Given the description of an element on the screen output the (x, y) to click on. 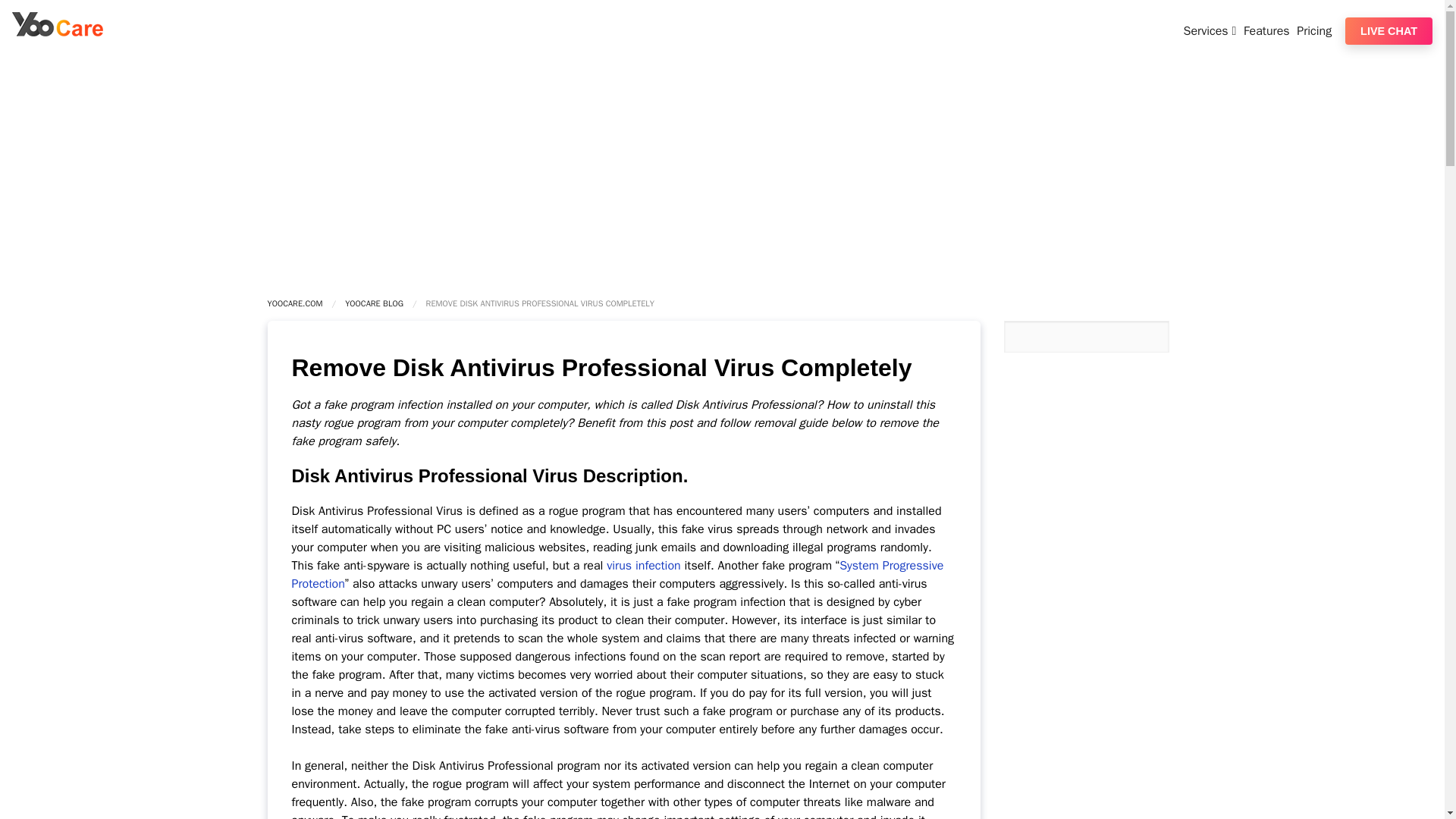
Services (1211, 30)
Pricing (1316, 30)
YooCare (57, 32)
back to YooCare blog home page (374, 303)
YOOCARE.COM (293, 303)
LIVE CHAT (1388, 31)
System Progressive Protection (617, 574)
YOOCARE BLOG (374, 303)
Features (1268, 30)
virus infection (643, 565)
